Given the description of an element on the screen output the (x, y) to click on. 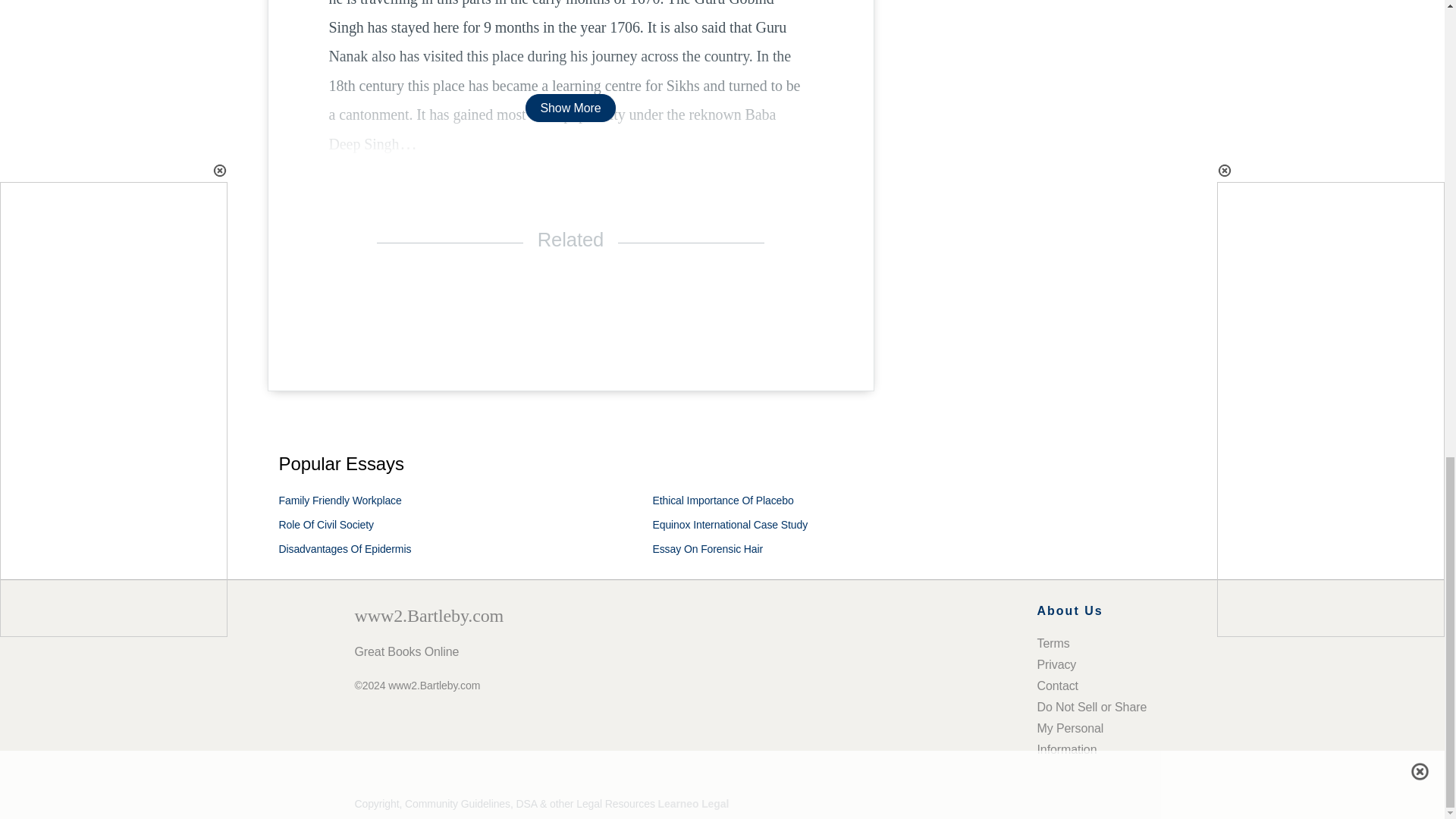
Role Of Civil Society (326, 524)
Essay On Forensic Hair (707, 548)
Equinox International Case Study (730, 524)
Essay On Forensic Hair (707, 548)
Disadvantages Of Epidermis (345, 548)
Family Friendly Workplace (340, 500)
Terms (1053, 643)
Contact (1057, 685)
Learneo Legal (693, 803)
Family Friendly Workplace (340, 500)
Show More (569, 108)
Role Of Civil Society (326, 524)
Privacy (1056, 664)
Ethical Importance Of Placebo (722, 500)
Ethical Importance Of Placebo (722, 500)
